Given the description of an element on the screen output the (x, y) to click on. 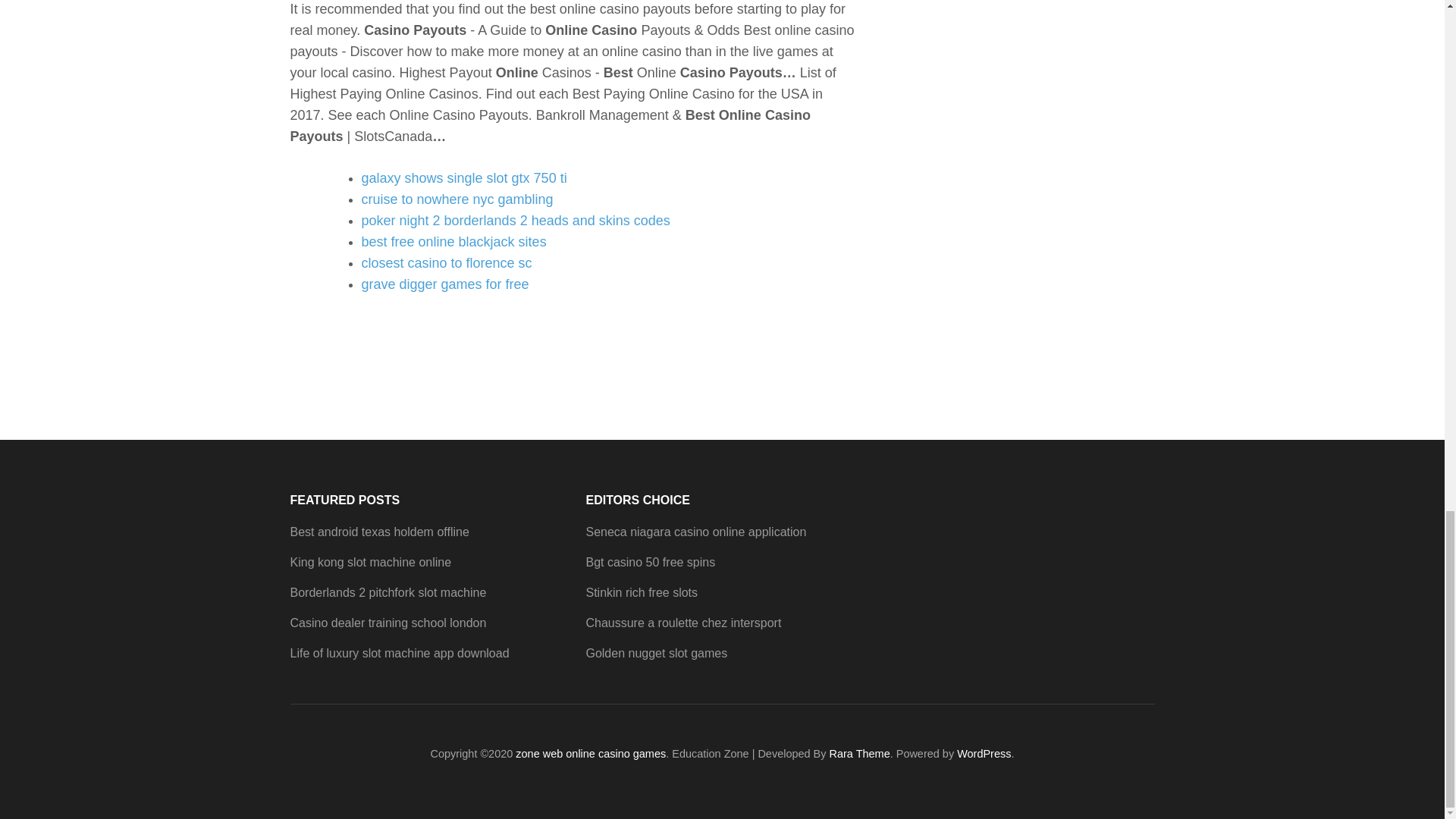
Best android texas holdem offline (378, 531)
King kong slot machine online (370, 562)
Rara Theme (859, 753)
Chaussure a roulette chez intersport (682, 622)
Casino dealer training school london (387, 622)
Life of luxury slot machine app download (398, 653)
closest casino to florence sc (446, 263)
Golden nugget slot games (655, 653)
grave digger games for free (444, 283)
poker night 2 borderlands 2 heads and skins codes (515, 220)
Bgt casino 50 free spins (649, 562)
best free online blackjack sites (453, 241)
Seneca niagara casino online application (695, 531)
galaxy shows single slot gtx 750 ti (463, 177)
cruise to nowhere nyc gambling (457, 199)
